Given the description of an element on the screen output the (x, y) to click on. 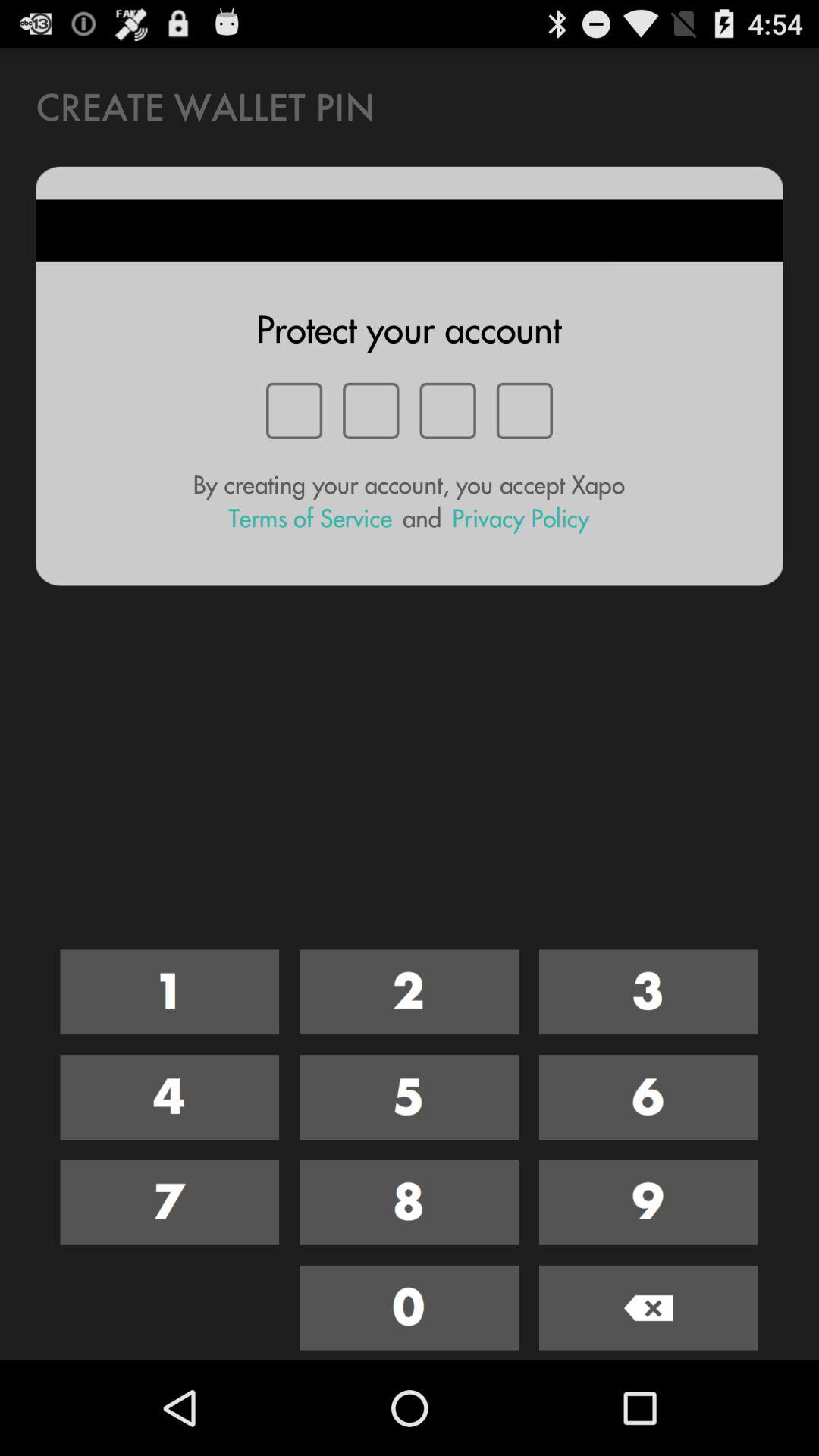
choose the icon to the left of and (310, 518)
